Given the description of an element on the screen output the (x, y) to click on. 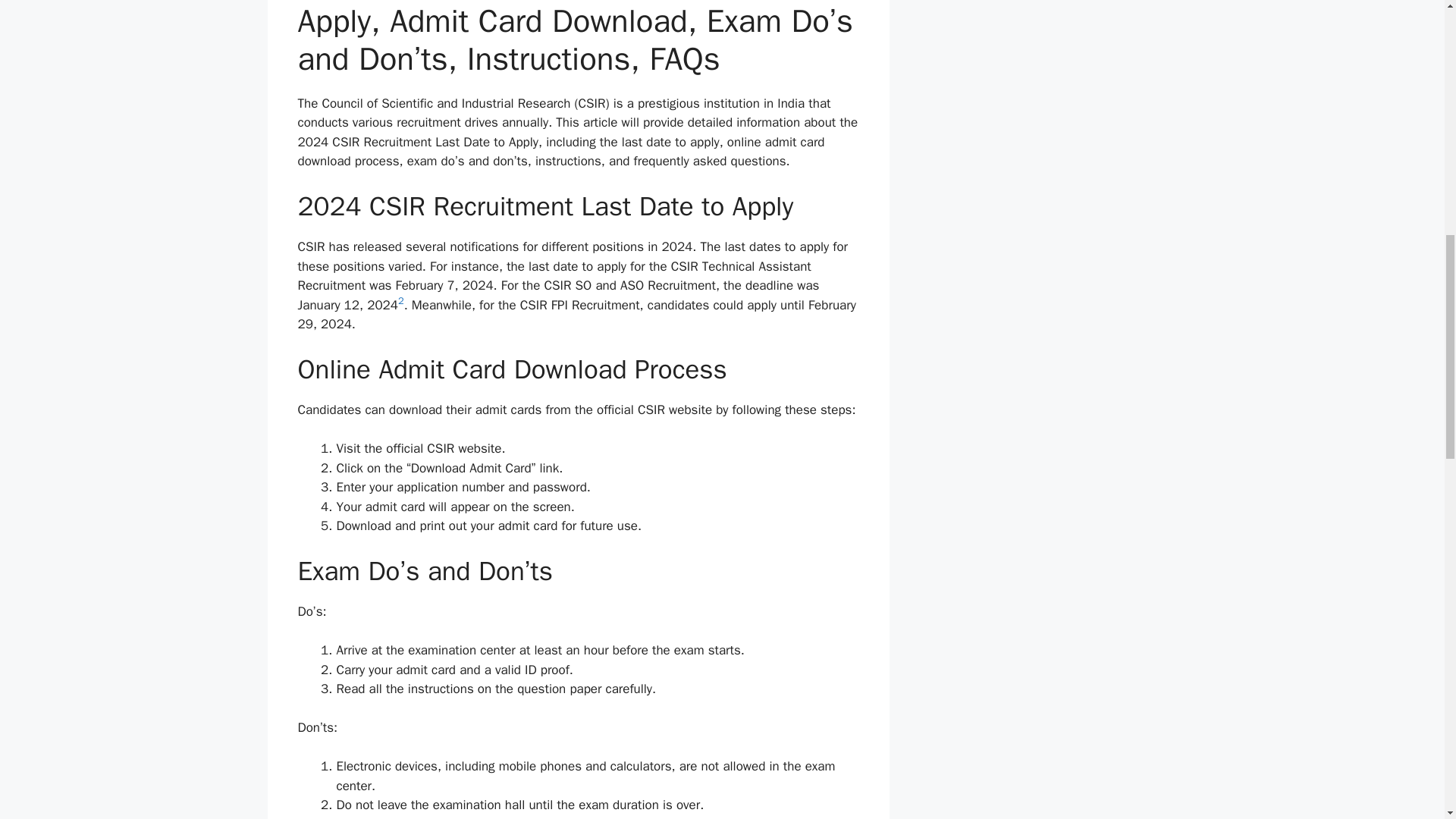
Scroll back to top (1406, 720)
